Given the description of an element on the screen output the (x, y) to click on. 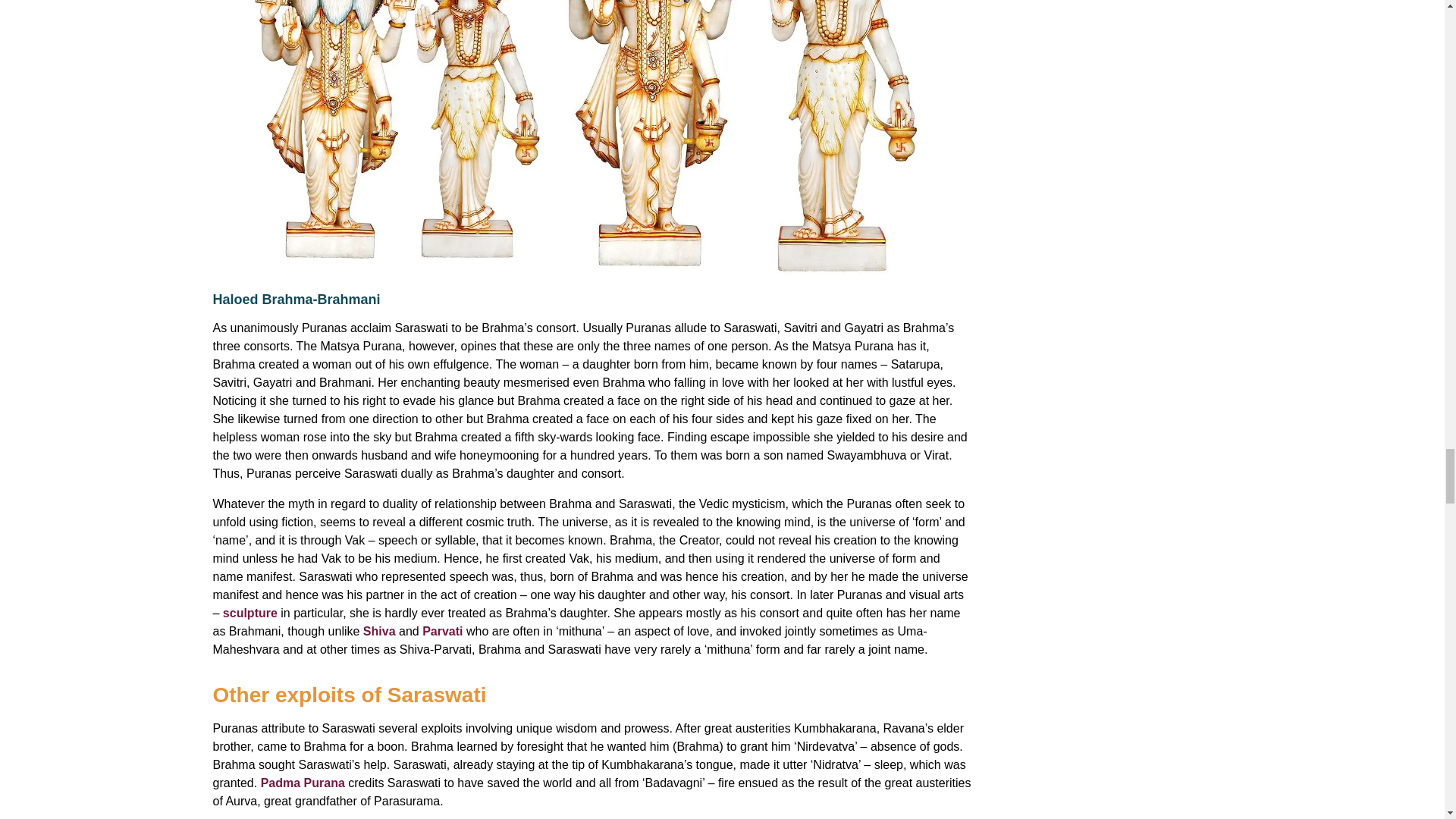
Haloed Brahma-Brahmani (296, 299)
